Given the description of an element on the screen output the (x, y) to click on. 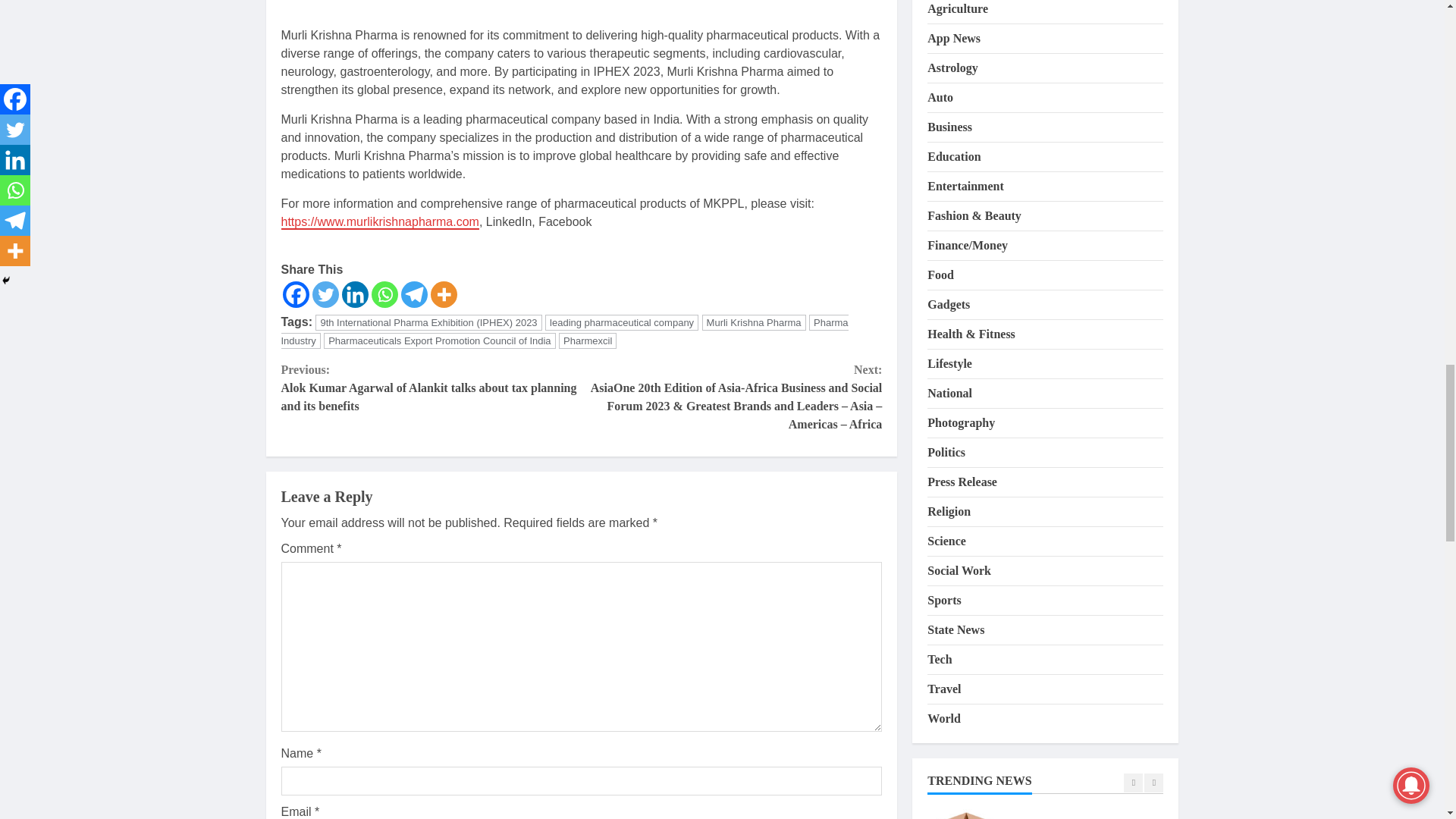
Whatsapp (384, 294)
More (443, 294)
Twitter (326, 294)
Facebook (295, 294)
Linkedin (354, 294)
Telegram (413, 294)
